Given the description of an element on the screen output the (x, y) to click on. 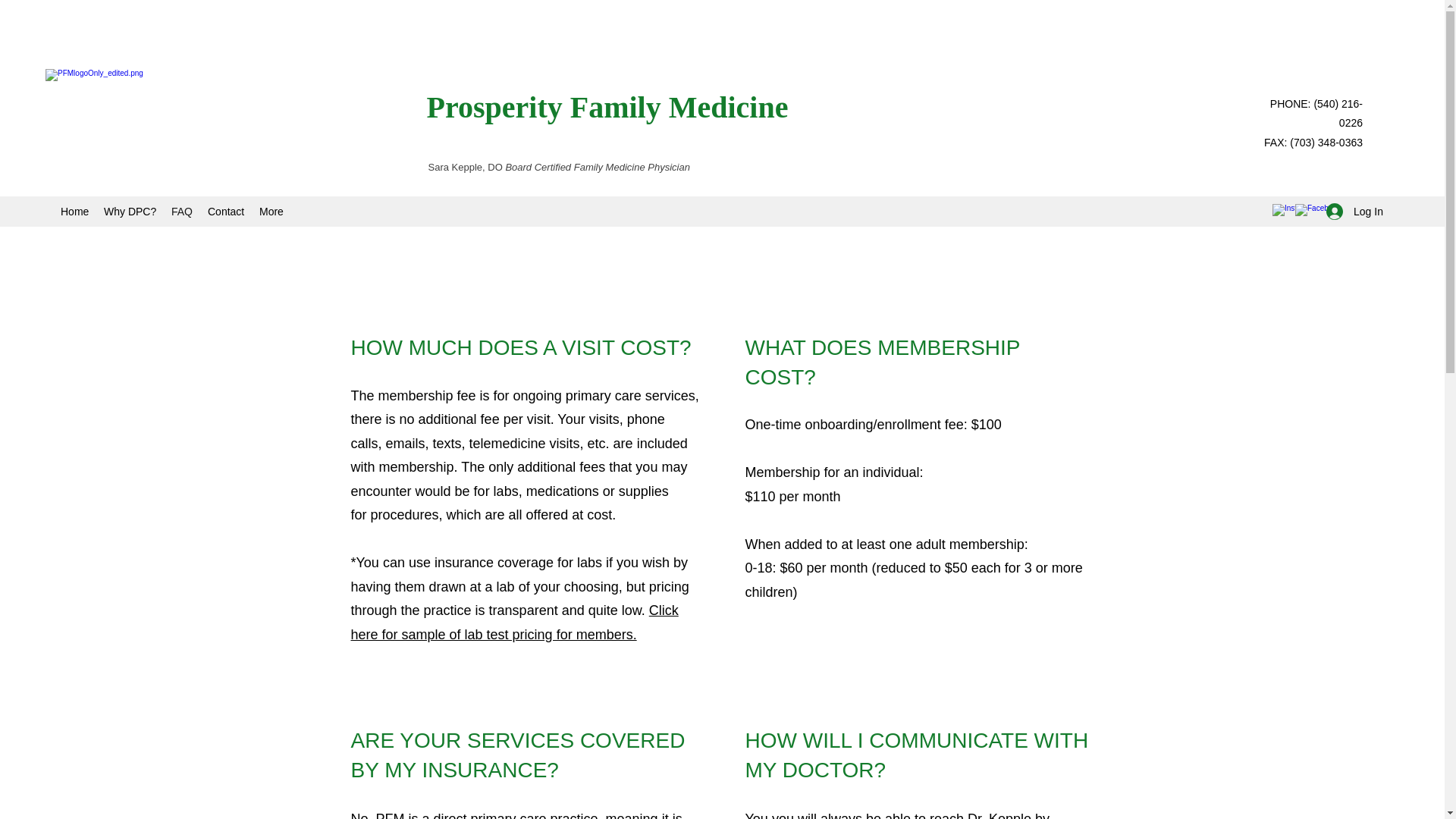
Log In (1350, 212)
Home (74, 210)
Click here for sample of lab test pricing for members. (514, 622)
FAQ (181, 210)
Why DPC? (129, 210)
Contact (225, 210)
